Given the description of an element on the screen output the (x, y) to click on. 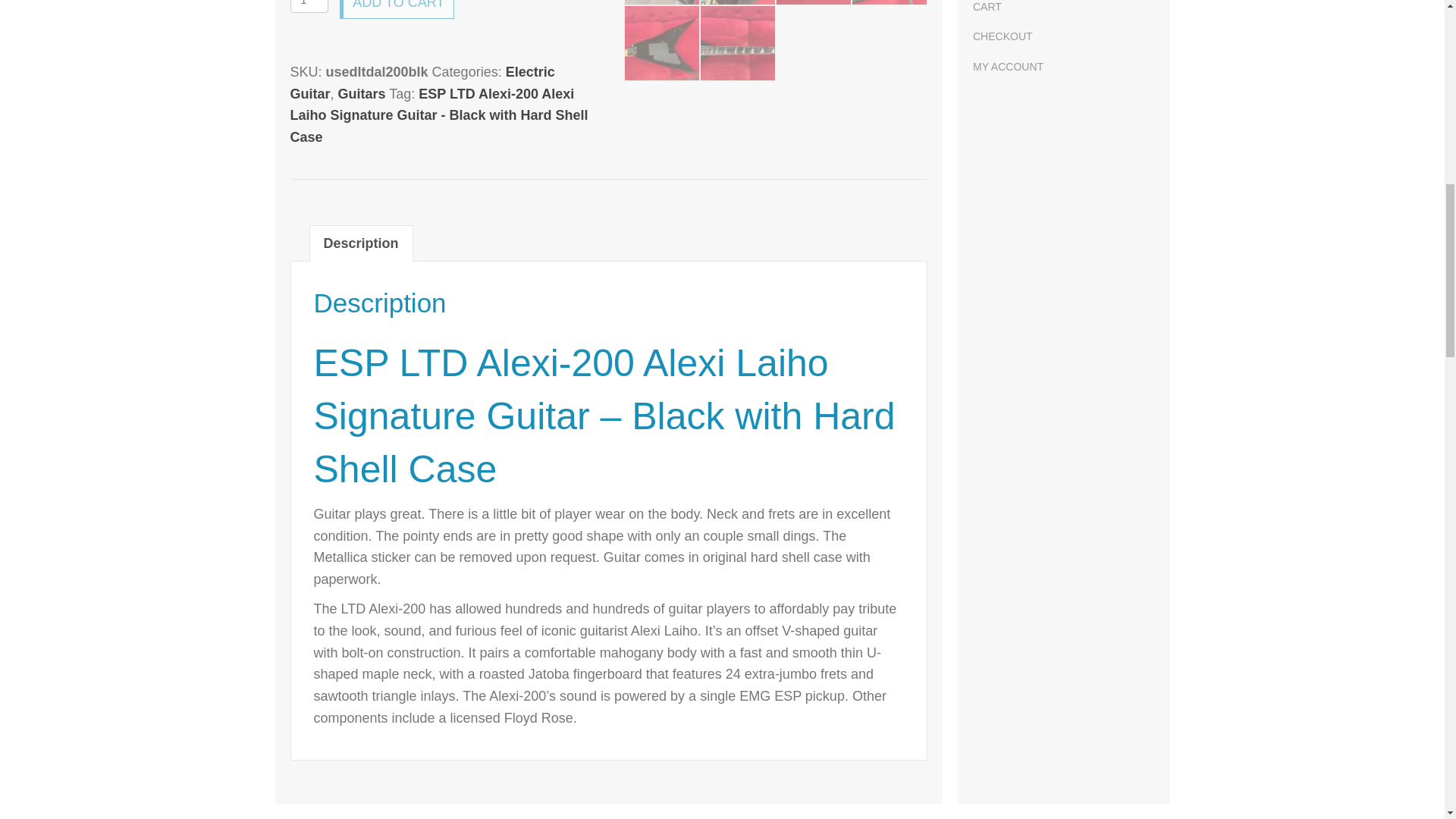
1 (309, 6)
